Given the description of an element on the screen output the (x, y) to click on. 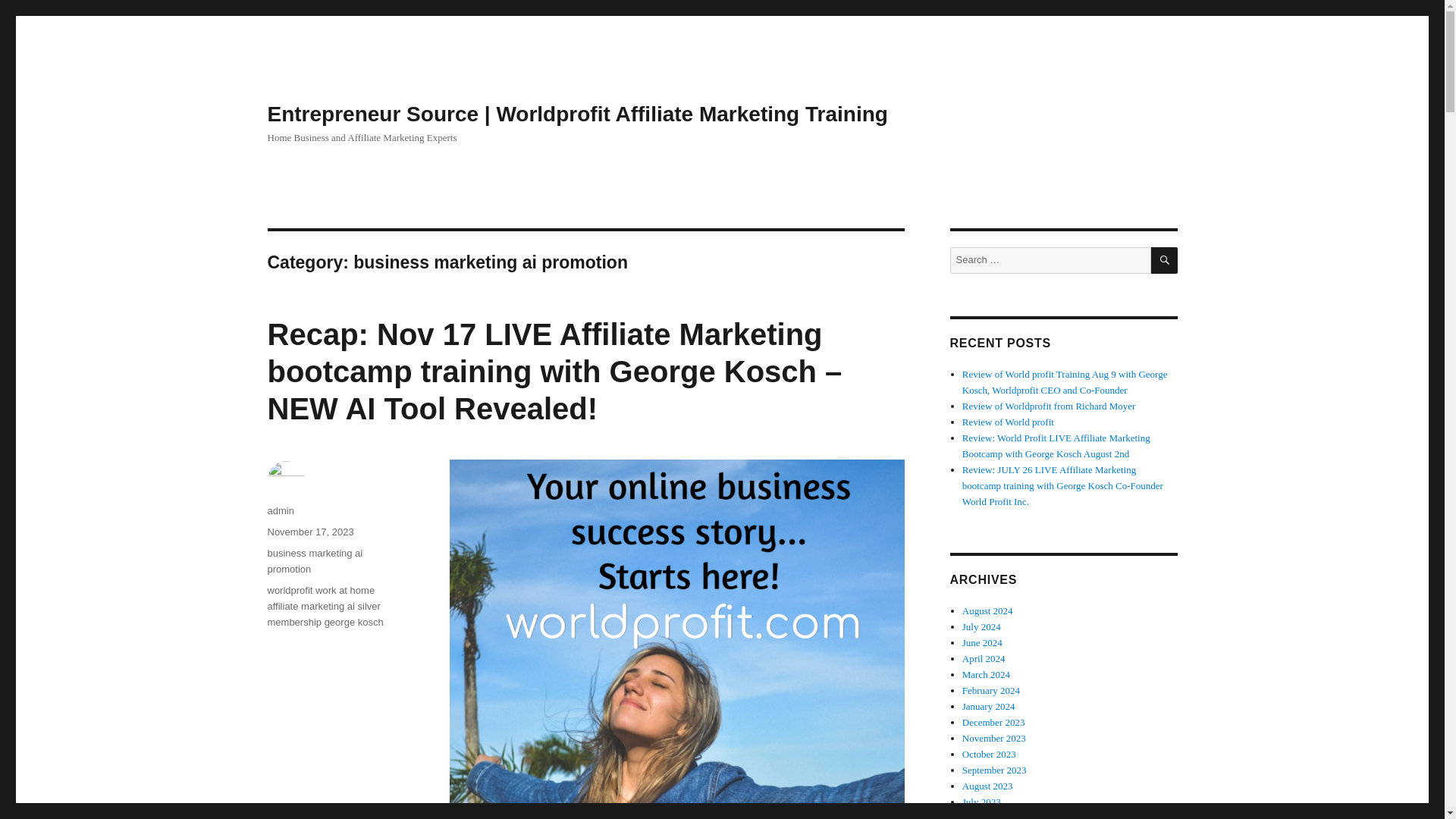
Review of World profit (1008, 421)
November 17, 2023 (309, 531)
September 2023 (994, 769)
August 2024 (987, 610)
Review of Worldprofit from Richard Moyer (1048, 405)
June 2024 (982, 642)
December 2023 (993, 722)
March 2024 (986, 674)
admin (280, 510)
